Given the description of an element on the screen output the (x, y) to click on. 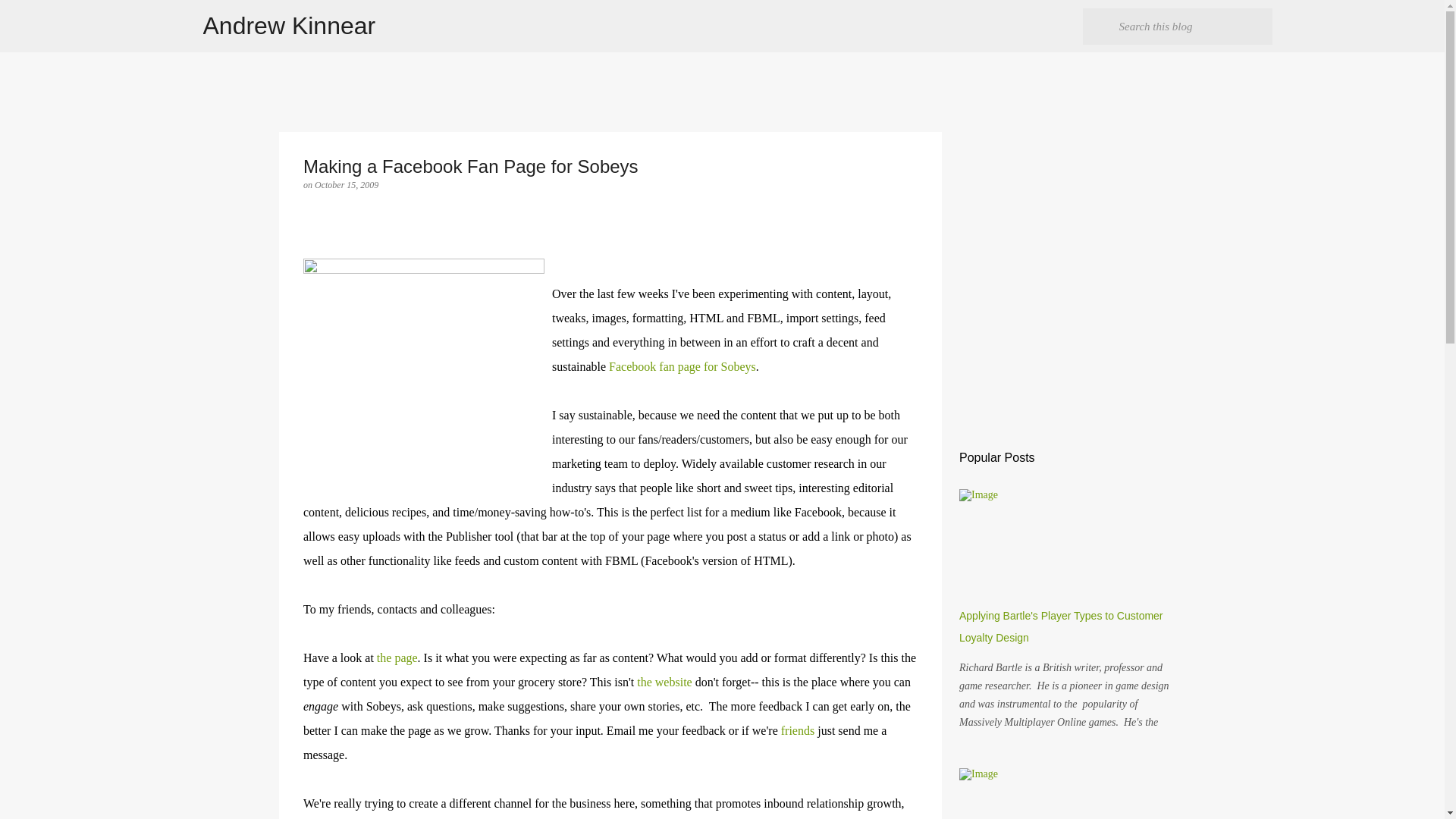
Facebook fan page for Sobeys (681, 366)
Applying Bartle's Player Types to Customer Loyalty Design (1061, 626)
the website (664, 681)
Andrew Kinnear (289, 25)
friends (796, 730)
permanent link (346, 184)
the page (397, 657)
October 15, 2009 (346, 184)
